Given the description of an element on the screen output the (x, y) to click on. 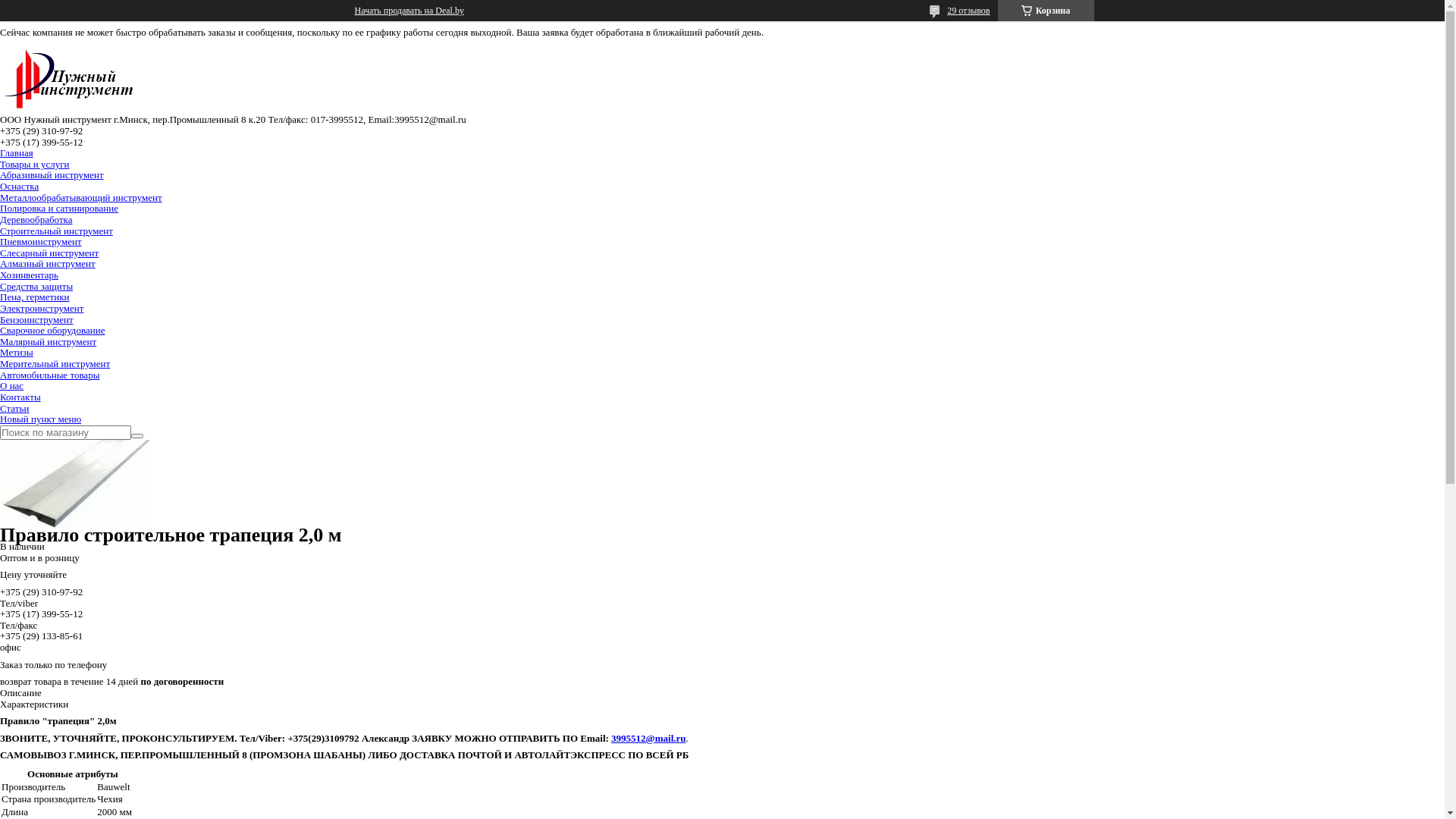
3995512@mail.ru Element type: text (648, 737)
